Given the description of an element on the screen output the (x, y) to click on. 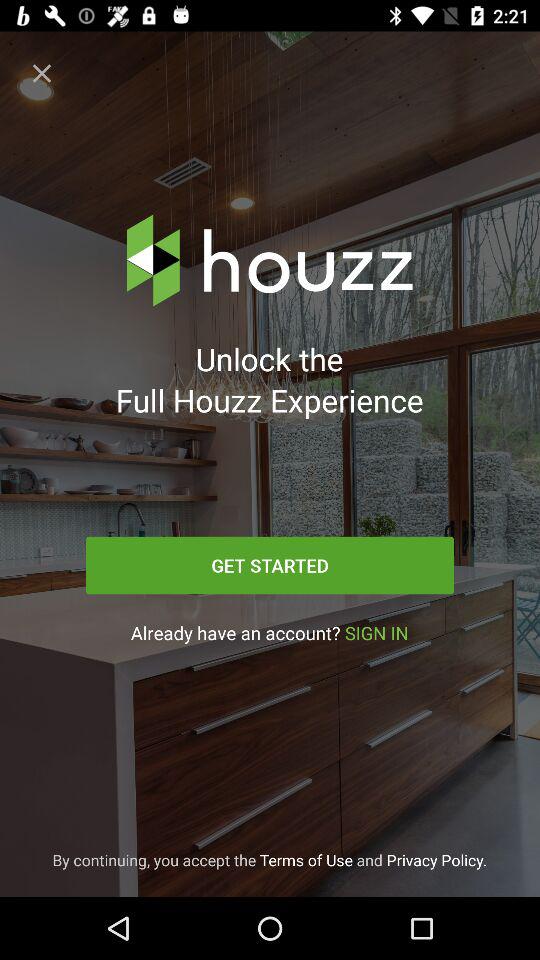
scroll until the already have an item (269, 632)
